Given the description of an element on the screen output the (x, y) to click on. 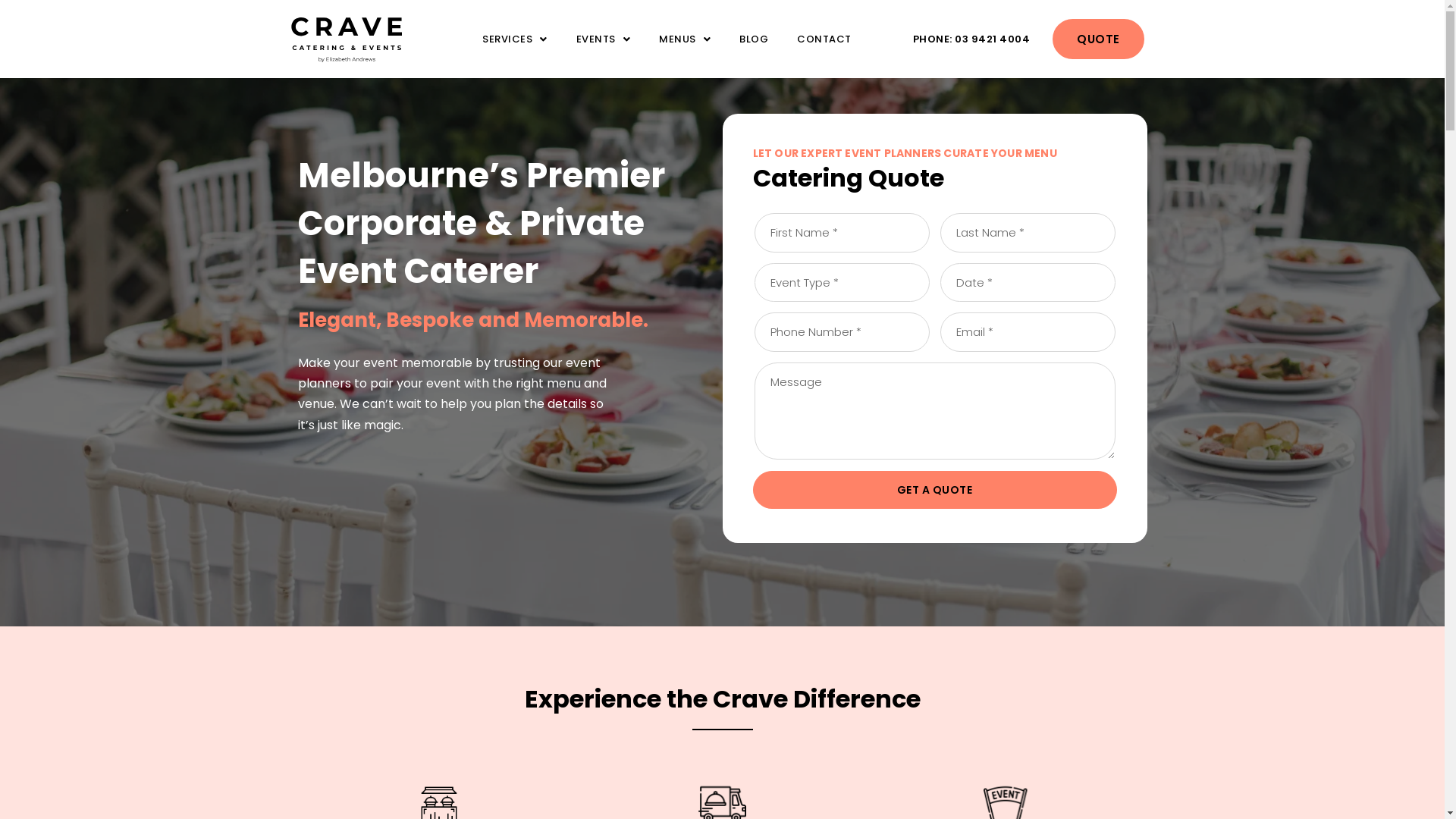
PHONE: 03 9421 4004 Element type: text (971, 38)
BLOG Element type: text (753, 38)
CONTACT Element type: text (824, 38)
EVENTS Element type: text (603, 38)
SERVICES Element type: text (514, 38)
MENUS Element type: text (684, 38)
QUOTE Element type: text (1098, 38)
GET A QUOTE Element type: text (934, 489)
